Given the description of an element on the screen output the (x, y) to click on. 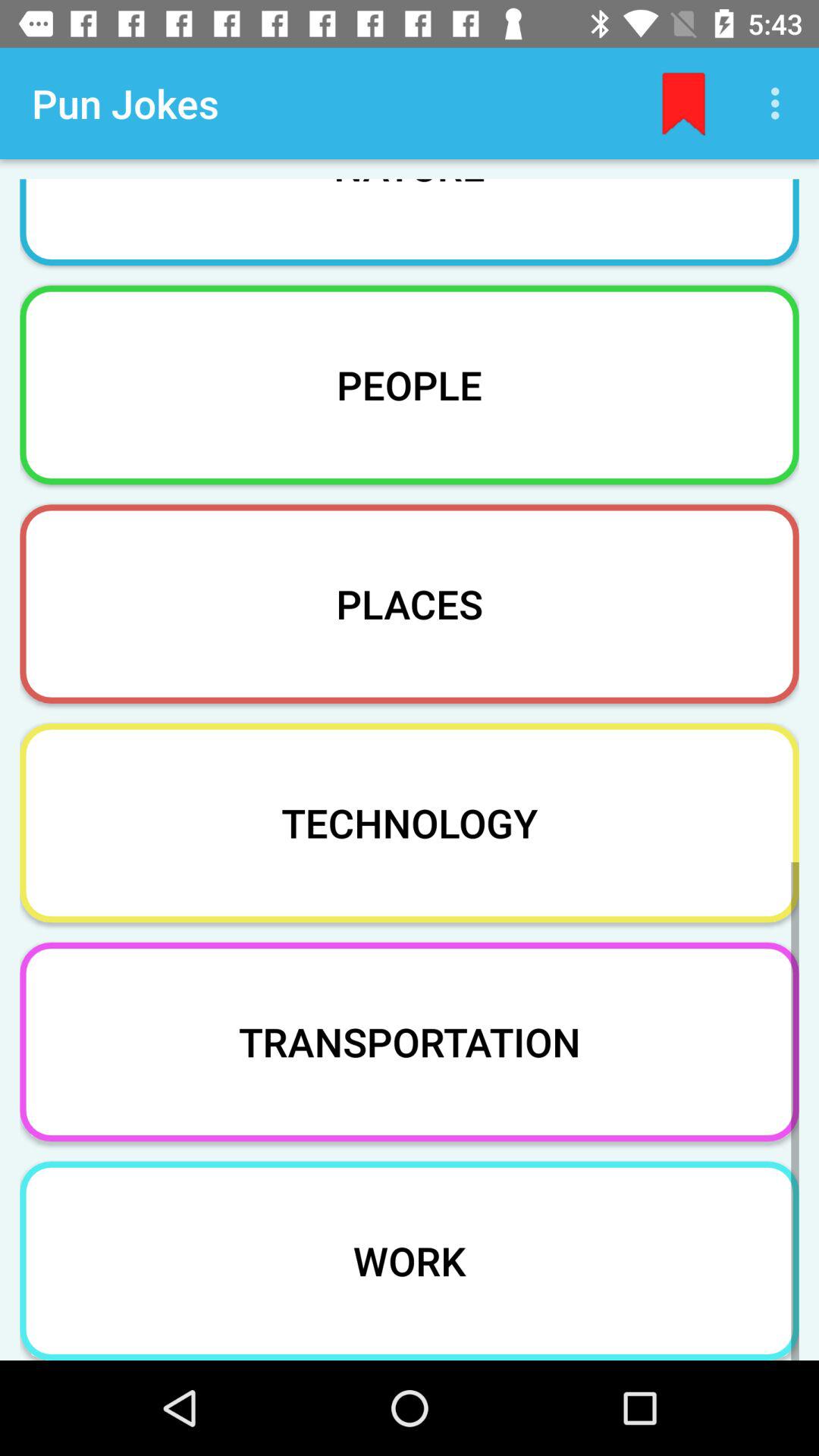
flip to the nature icon (409, 212)
